Given the description of an element on the screen output the (x, y) to click on. 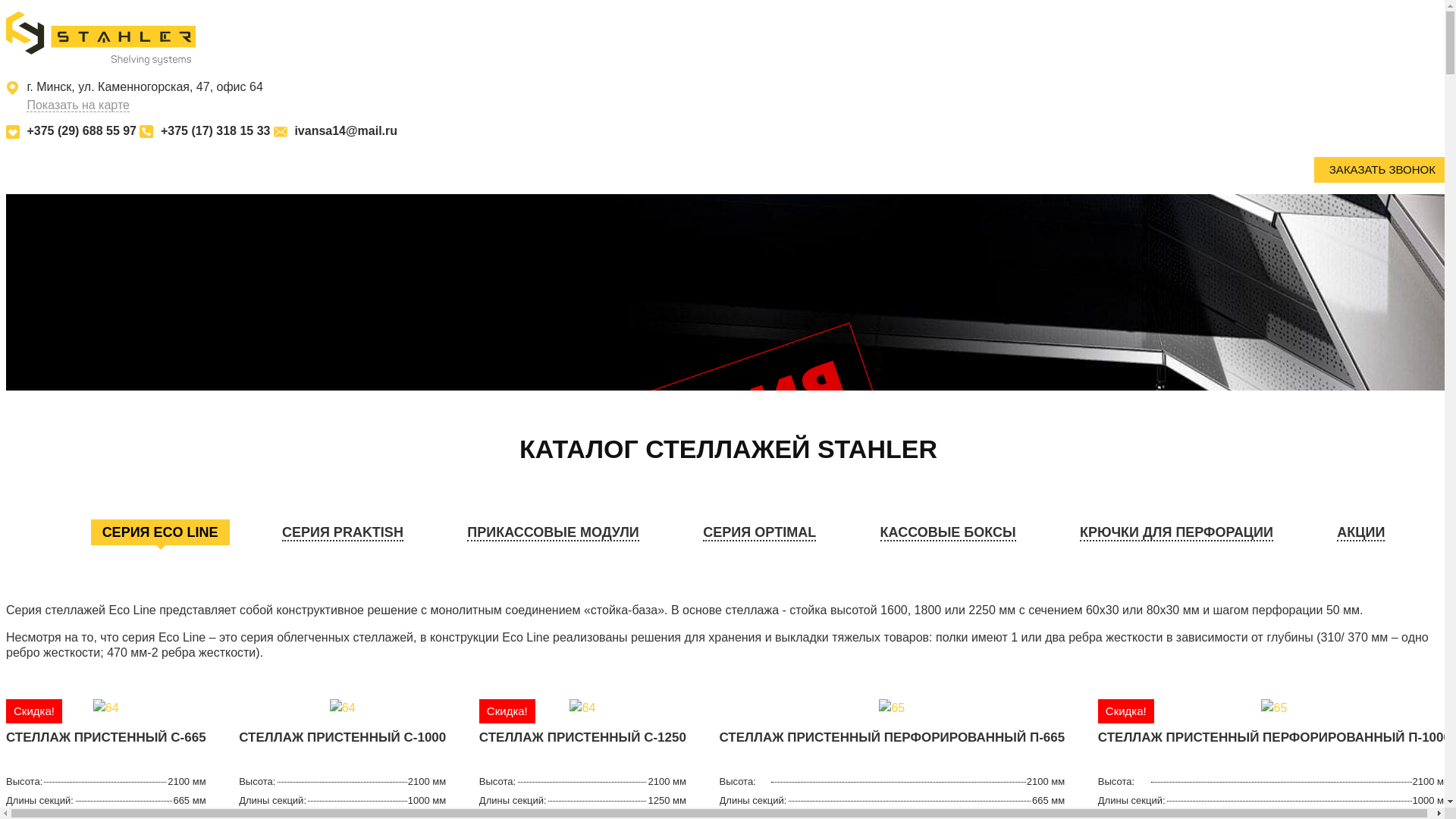
+375 (29) 688 55 97 Element type: text (81, 130)
+375 (17) 318 15 33 Element type: text (215, 130)
ivansa14@mail.ru Element type: text (345, 130)
